Given the description of an element on the screen output the (x, y) to click on. 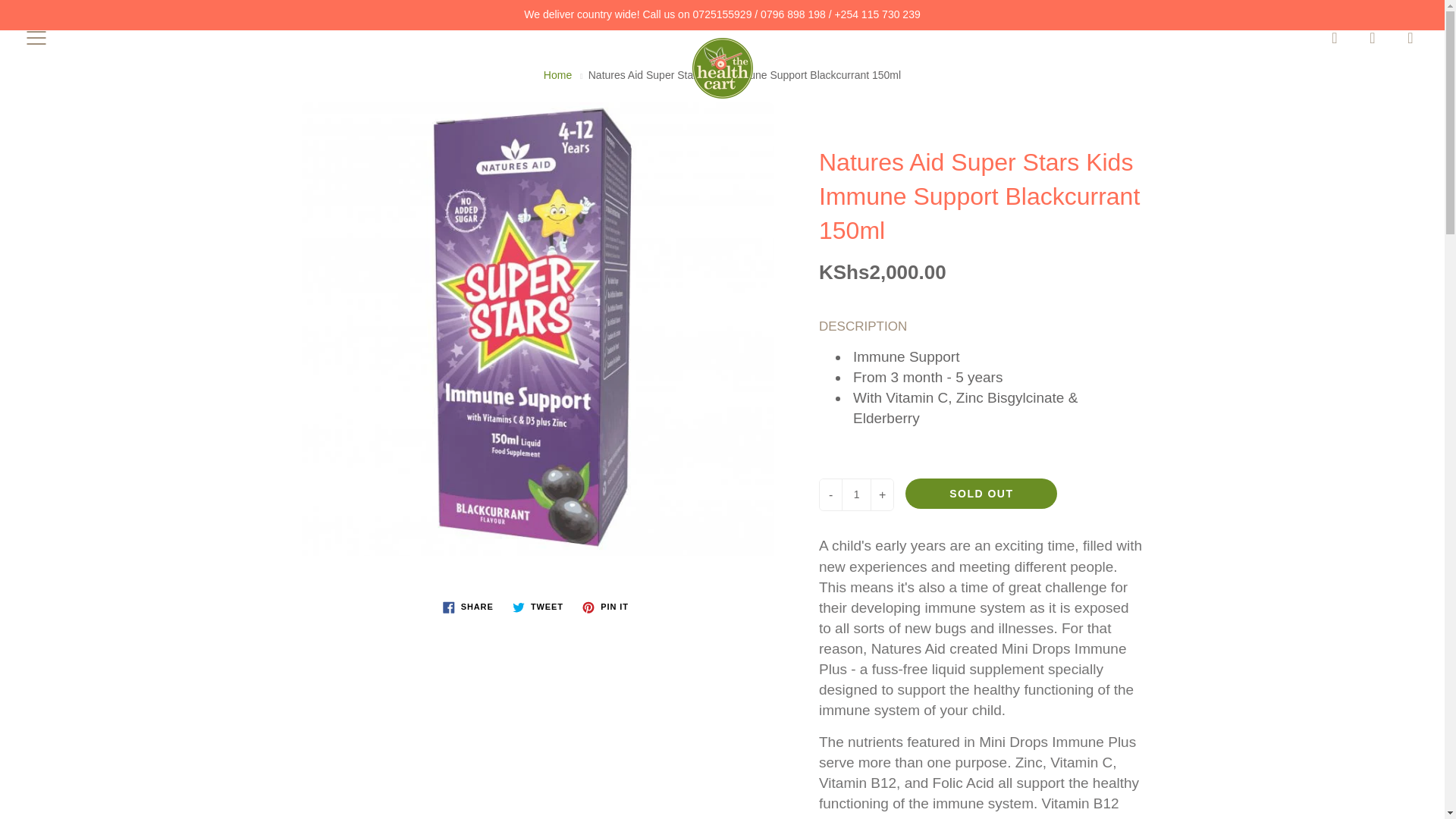
Share on Facebook (467, 607)
Press space bar to toggle menu (36, 37)
You have 0 items in your cart (1410, 37)
Tweet on Twitter (537, 607)
My account (1372, 37)
Pin on Pinterest (604, 607)
Search (1334, 37)
Home (557, 74)
1 (855, 494)
